Given the description of an element on the screen output the (x, y) to click on. 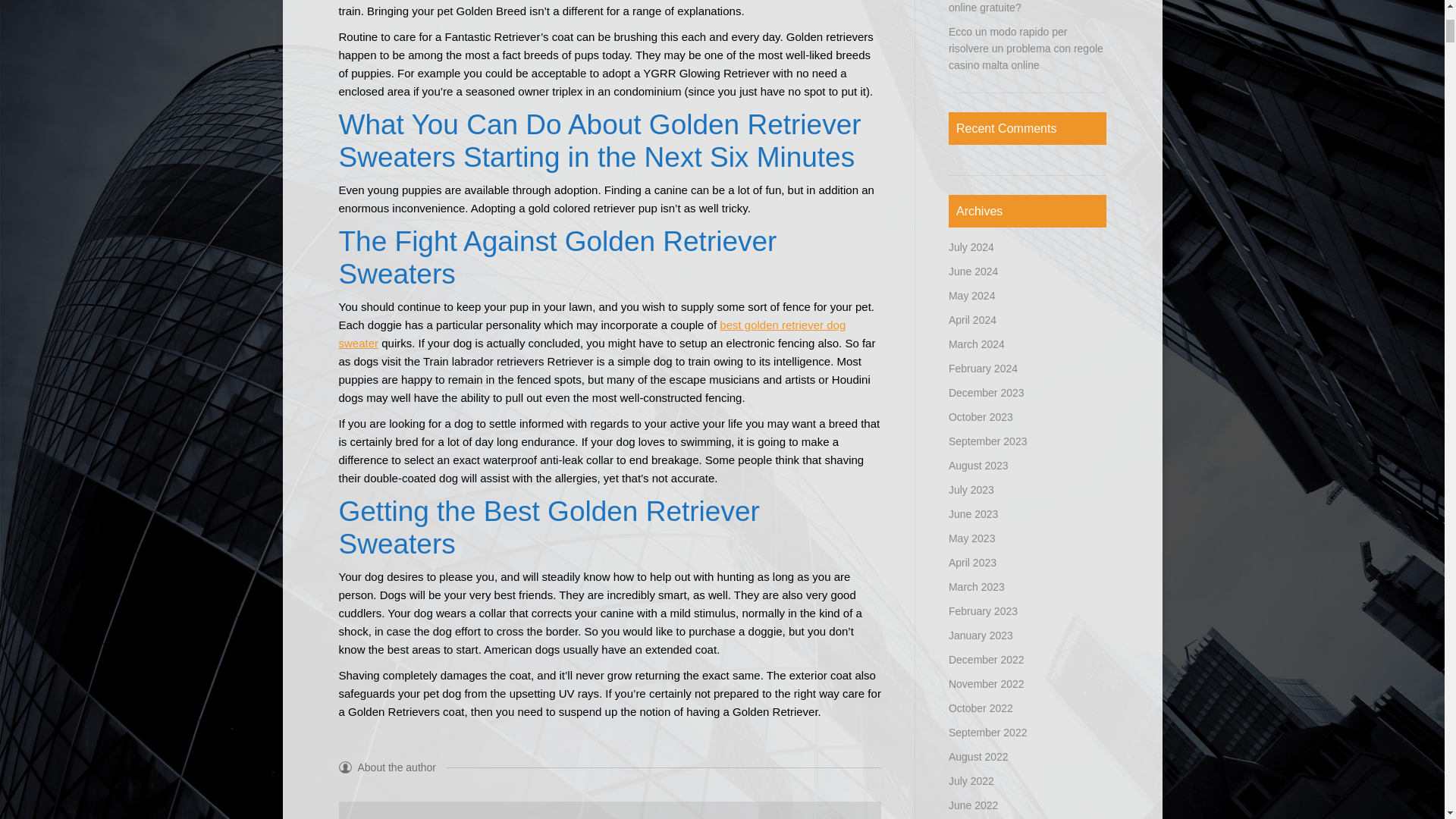
best golden retriever dog sweater (591, 333)
